Given the description of an element on the screen output the (x, y) to click on. 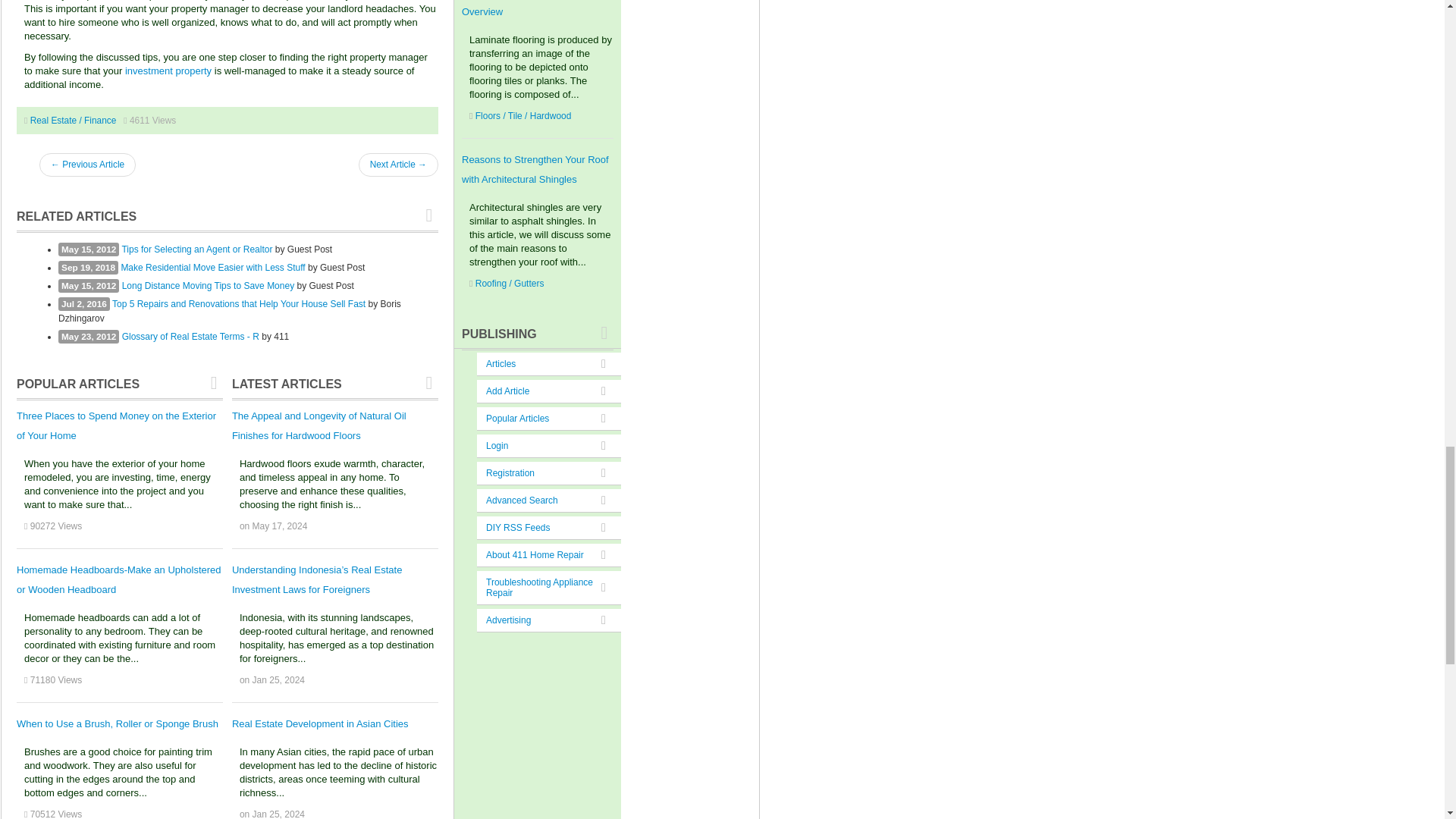
investment property (168, 70)
6 Easy Tips to Sell Your House Fast (398, 164)
Homemade Headboards-Make an Upholstered or Wooden Headboard (118, 579)
Top 5 Repairs and Renovations that Help Your House Sell Fast (238, 303)
How to Create a Great Office Space (87, 164)
Three Places to Spend Money on the Exterior of Your Home (115, 425)
Make Residential Move Easier with Less Stuff (212, 267)
Tips for Selecting an Agent or Realtor (196, 249)
Glossary of Real Estate Terms - R (190, 336)
Long Distance Moving Tips to Save Money (208, 285)
